Given the description of an element on the screen output the (x, y) to click on. 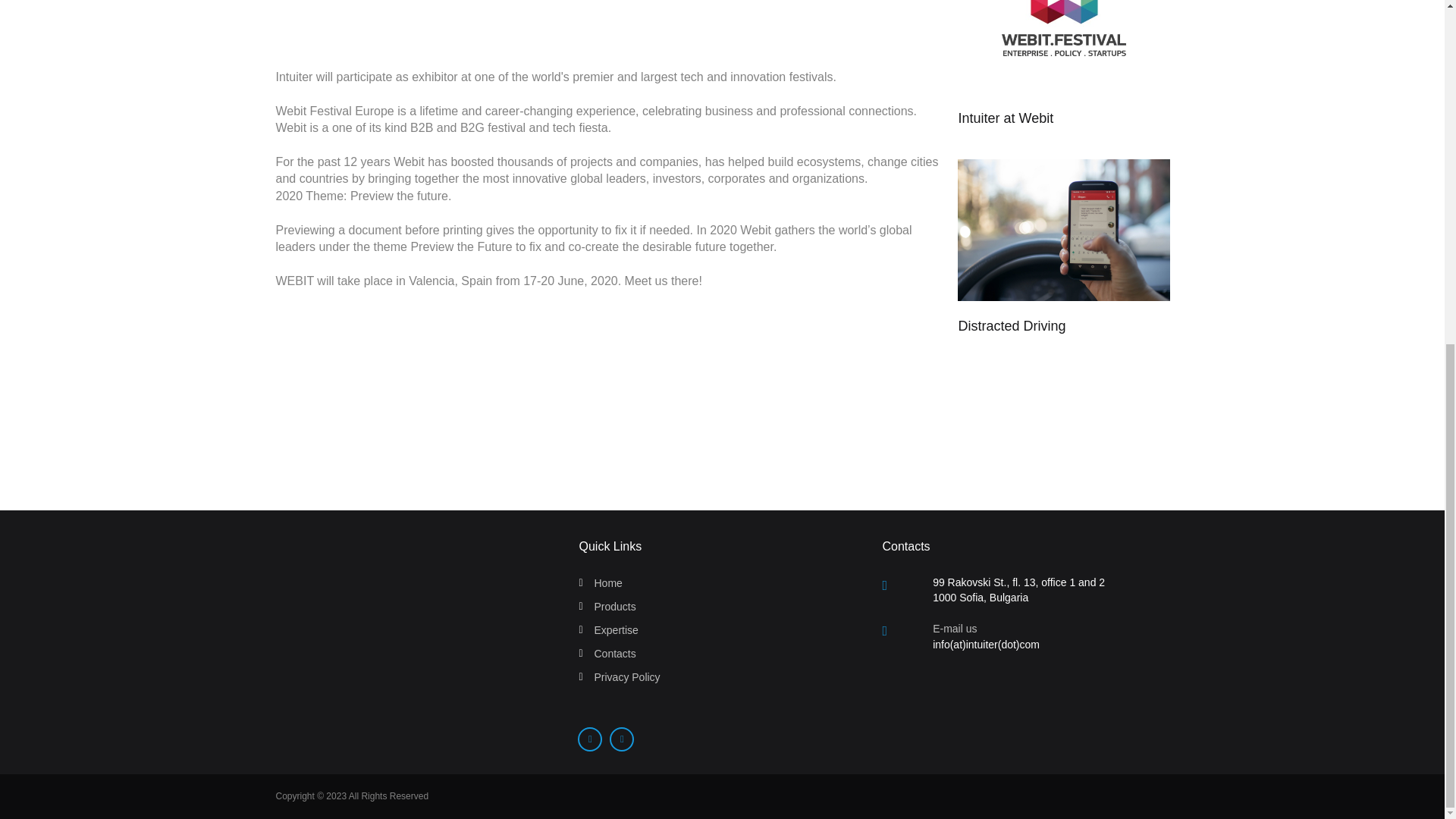
Home (607, 582)
Distracted Driving (1011, 325)
Expertise (615, 630)
Privacy Policy (626, 676)
Contacts (614, 653)
Products (614, 606)
Intuiter at Webit (1006, 118)
